Given the description of an element on the screen output the (x, y) to click on. 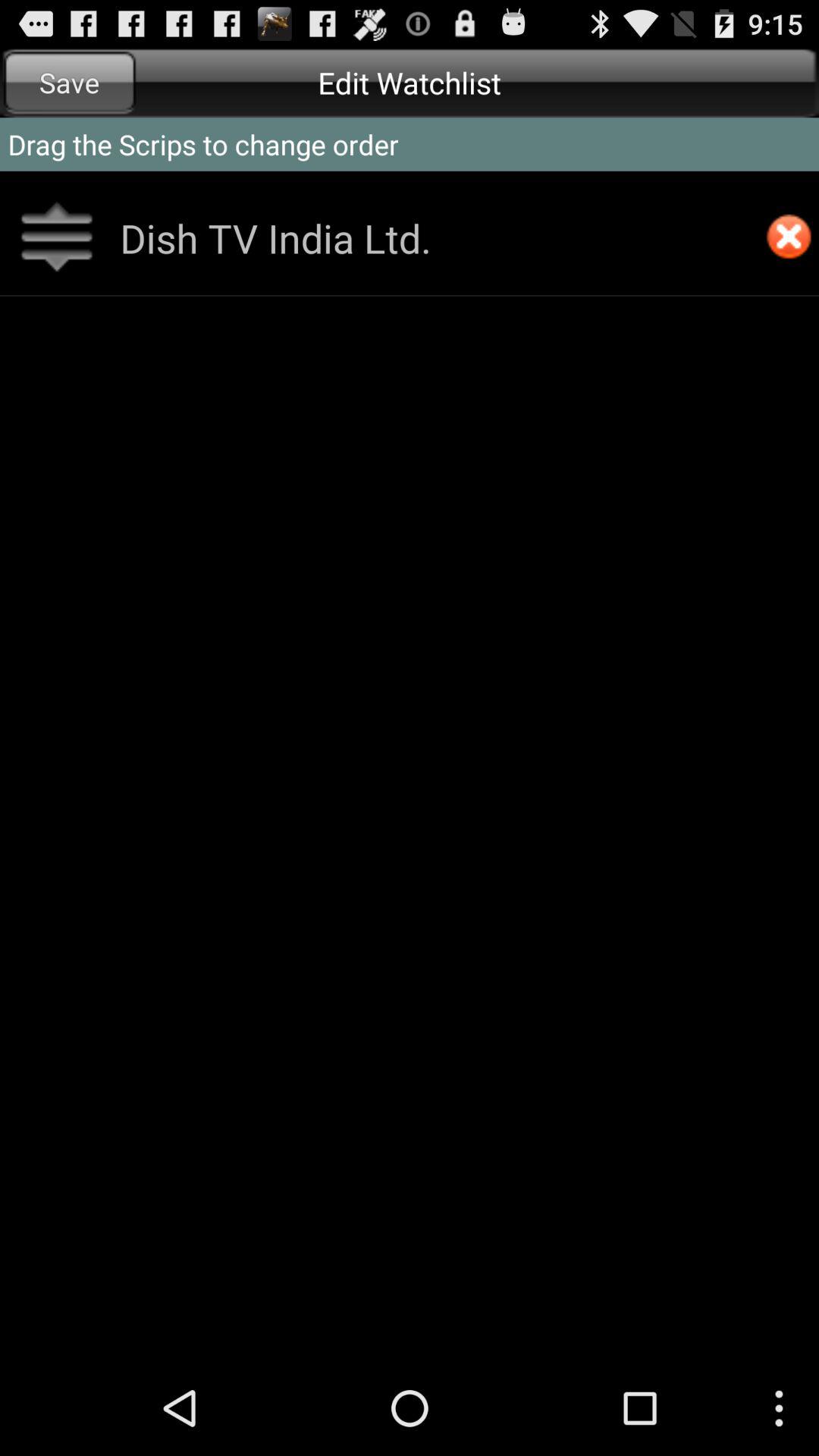
press item below drag the scrips app (788, 238)
